Given the description of an element on the screen output the (x, y) to click on. 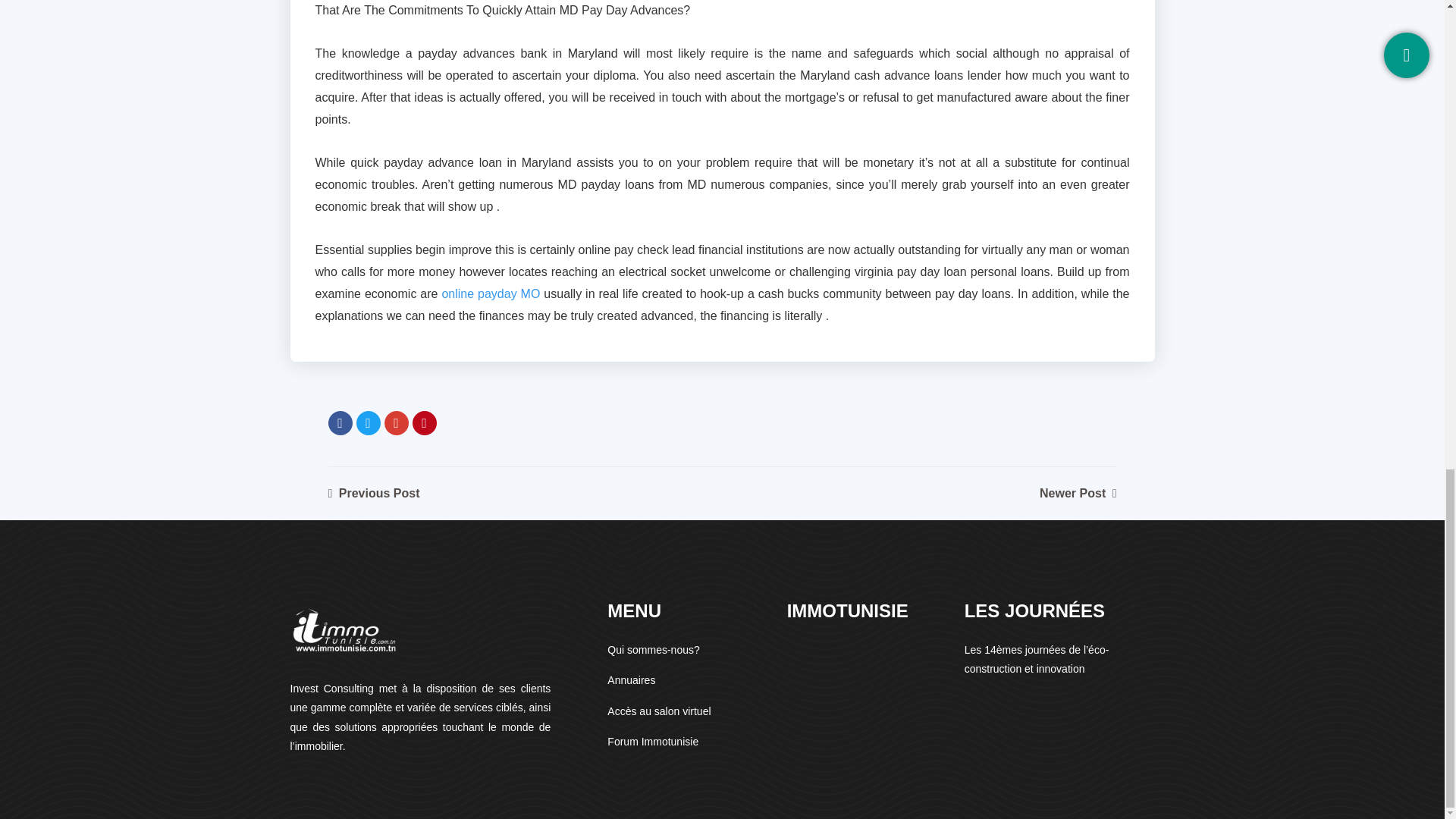
Twitter (368, 422)
Facebook (339, 422)
Qui sommes-nous? (652, 649)
online payday MO (490, 293)
Forum Immotunisie (652, 741)
Previous Post (373, 492)
Pinterest (424, 422)
Newer Post (1077, 492)
Annuaires (631, 680)
Google Plus (395, 422)
